Given the description of an element on the screen output the (x, y) to click on. 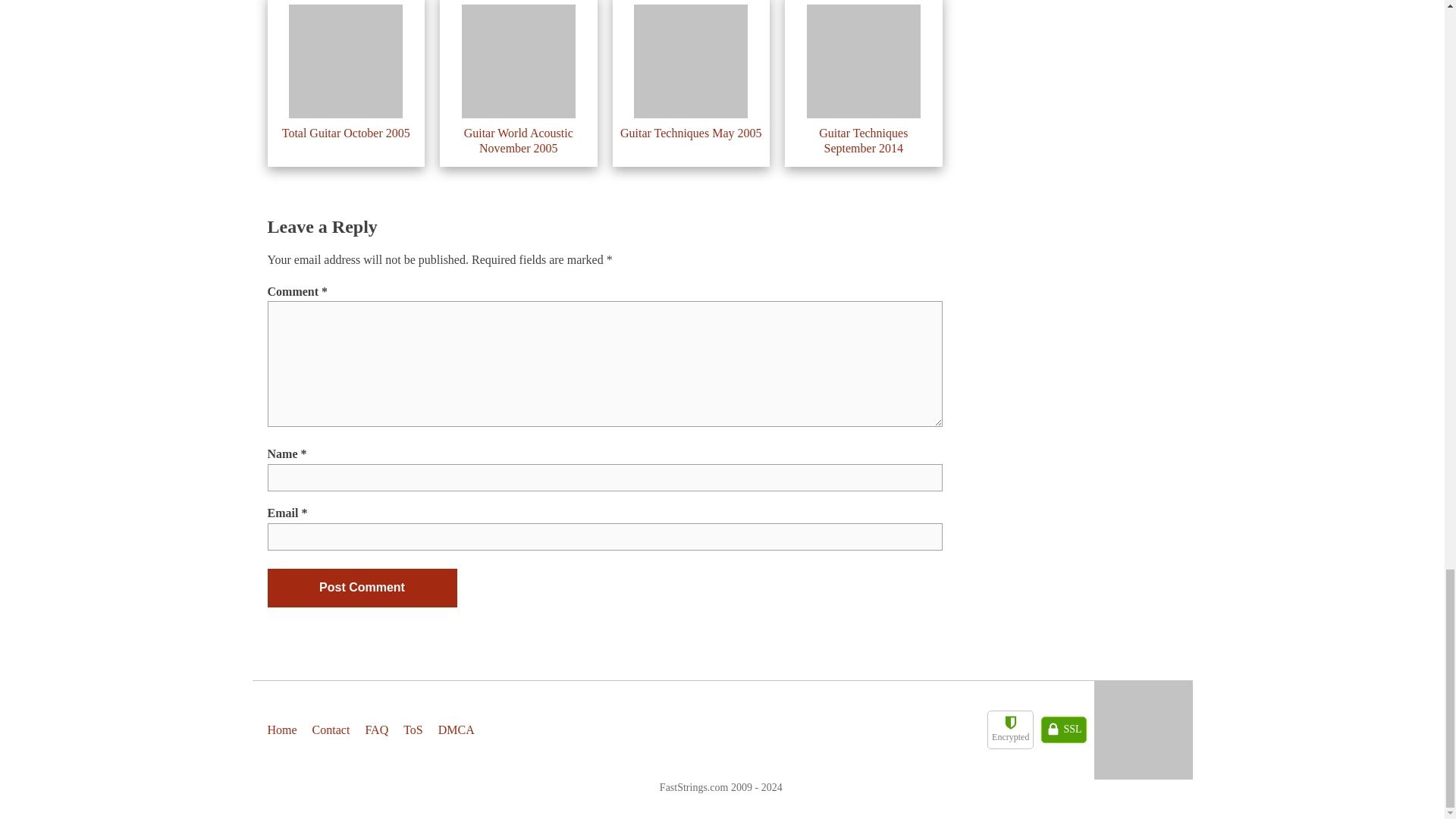
Guitar World Acoustic November 2005 (518, 139)
Post Comment (361, 587)
Guitar Techniques September 2014 (862, 139)
Guitar Techniques May 2005 (690, 132)
Total Guitar October 2005 (346, 132)
Post Comment (361, 587)
